Given the description of an element on the screen output the (x, y) to click on. 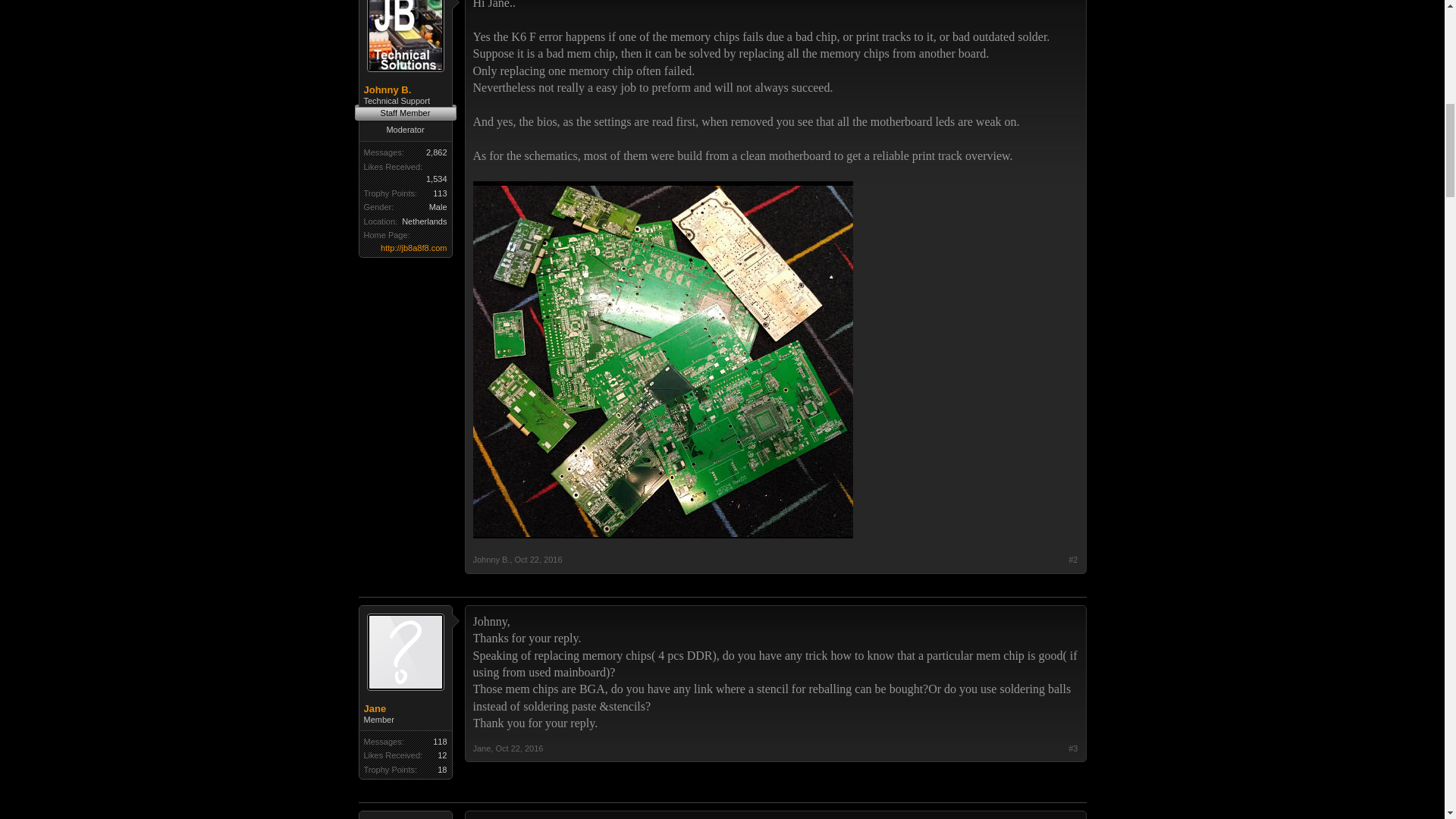
113 (439, 193)
Netherlands (423, 221)
18 (442, 768)
Oct 22, 2016 (538, 559)
2,862 (436, 152)
Jane (405, 708)
118 (439, 741)
Johnny B. (405, 90)
Oct 22, 2016 (519, 747)
Johnny B. (492, 559)
Permalink (519, 747)
Jane (482, 747)
Permalink (538, 559)
